Given the description of an element on the screen output the (x, y) to click on. 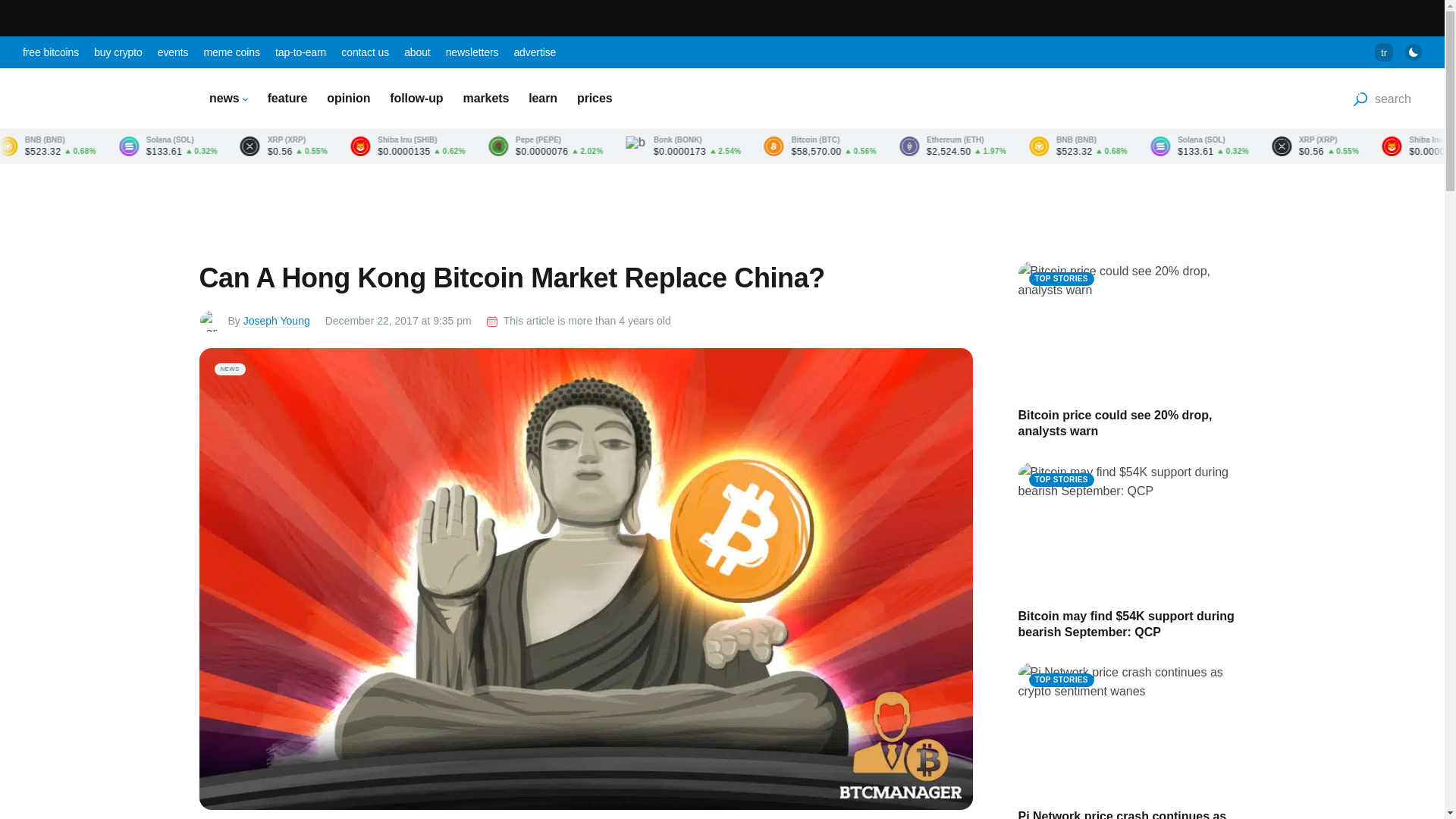
follow-up (416, 97)
crypto.news (98, 98)
opinion (347, 97)
tap-to-earn (300, 51)
news (228, 97)
advertise (534, 51)
crypto.news (98, 98)
BNB price (249, 145)
newsletters (472, 51)
free bitcoins (50, 51)
